Given the description of an element on the screen output the (x, y) to click on. 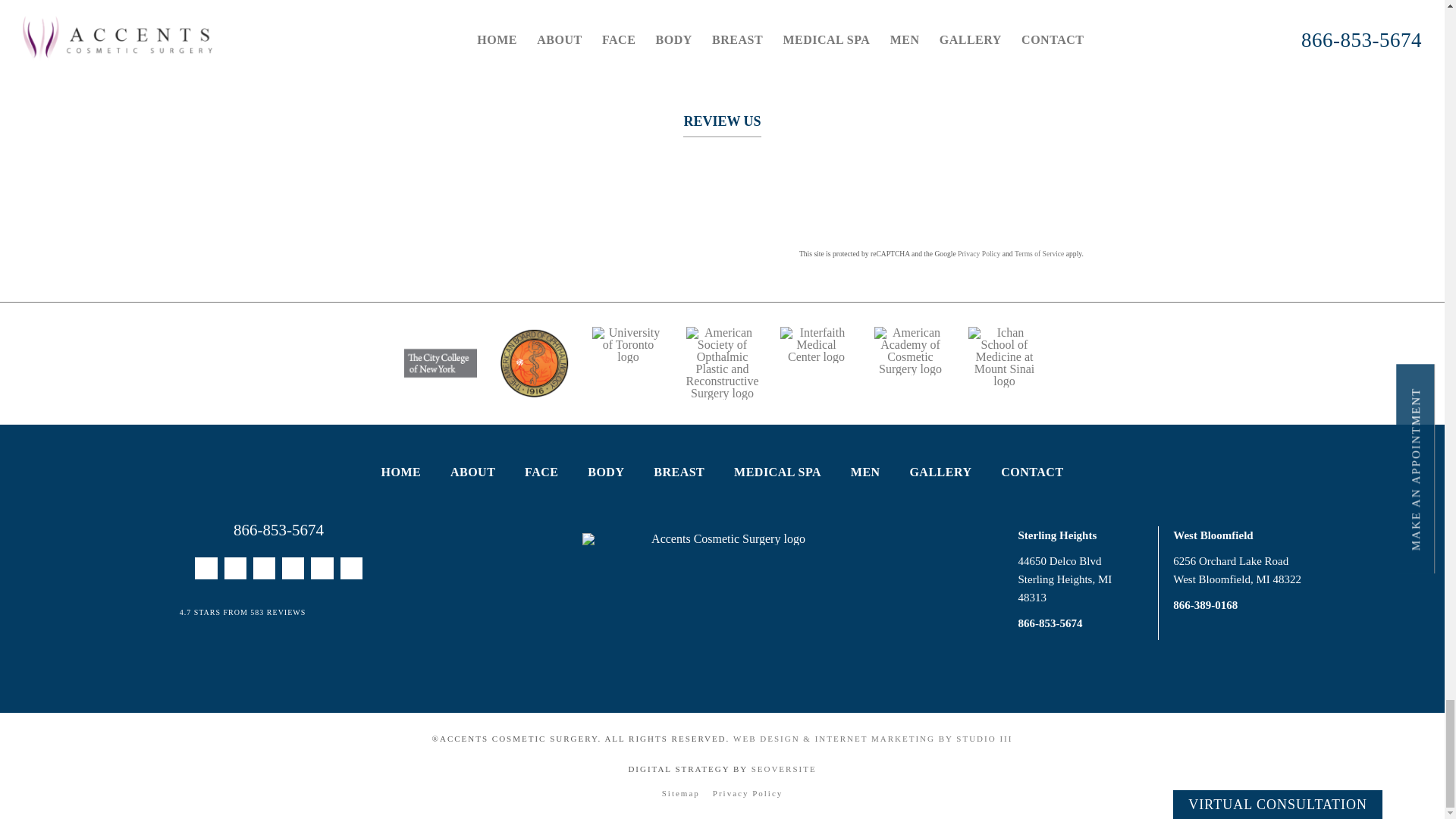
4.8 out of 5 stars (246, 612)
